Given the description of an element on the screen output the (x, y) to click on. 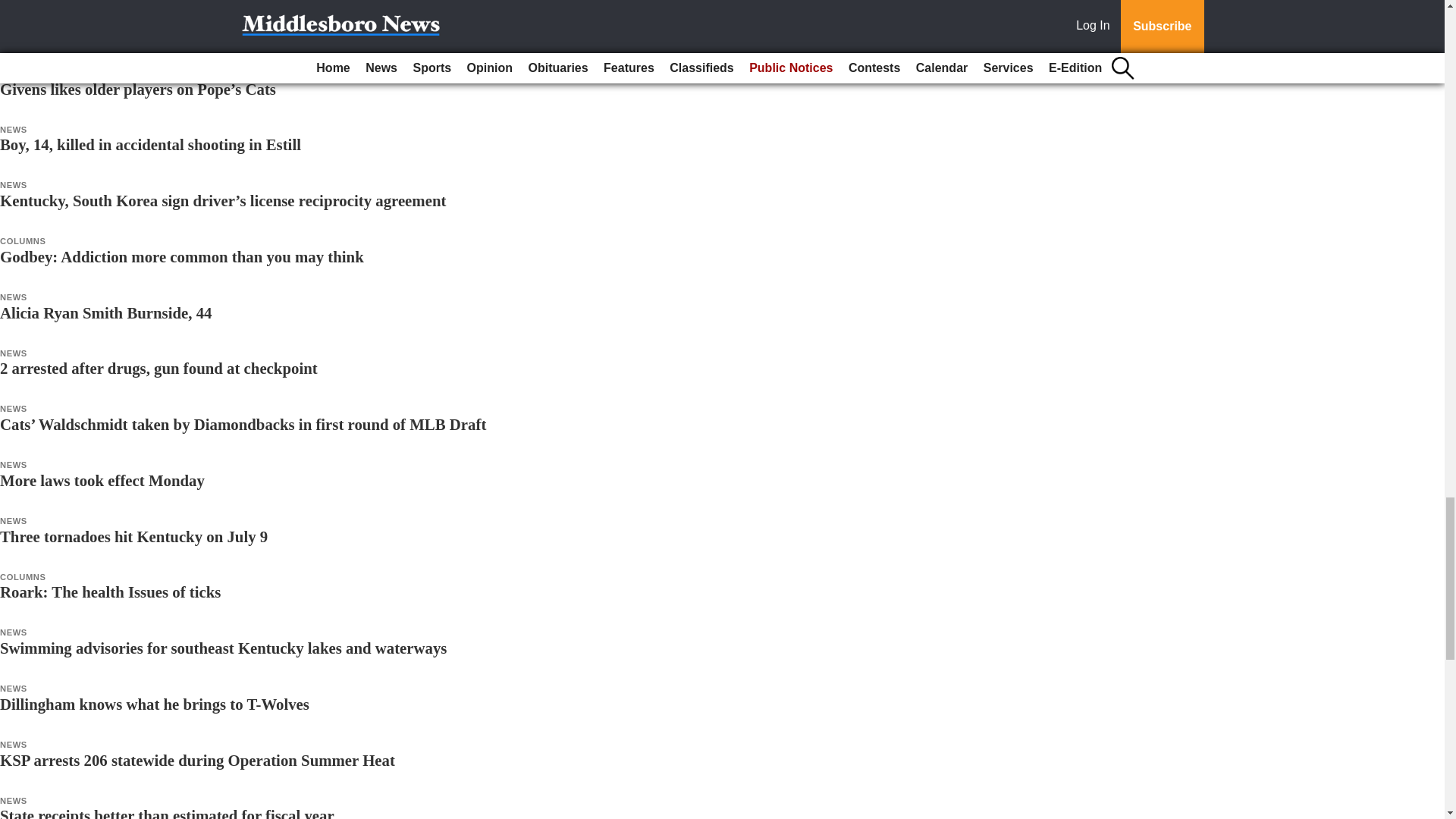
Three tornadoes hit Kentucky on July 9 (133, 536)
2 arrested after drugs, gun found at checkpoint (158, 367)
More laws took effect Monday (102, 479)
Godbey: Addiction more common than you may think (182, 256)
Roark: The health Issues of ticks (110, 591)
Alicia Ryan Smith Burnside, 44 (106, 312)
Boy, 14, killed in accidental shooting in Estill (150, 144)
Boy, 14, killed in accidental shooting in Estill (150, 144)
Godbey: Addiction more common than you may think (182, 256)
